Given the description of an element on the screen output the (x, y) to click on. 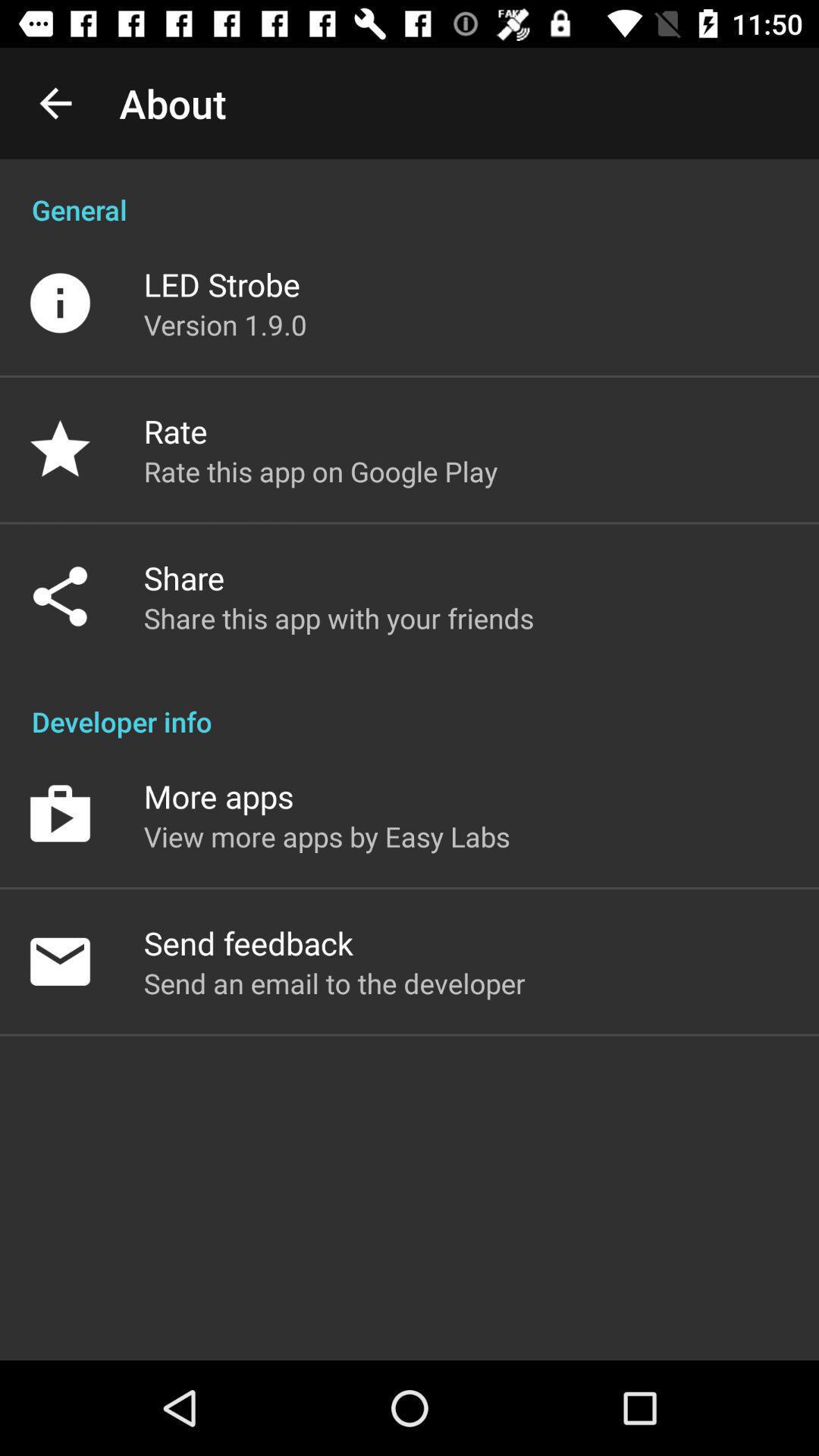
press app above the more apps item (409, 705)
